Given the description of an element on the screen output the (x, y) to click on. 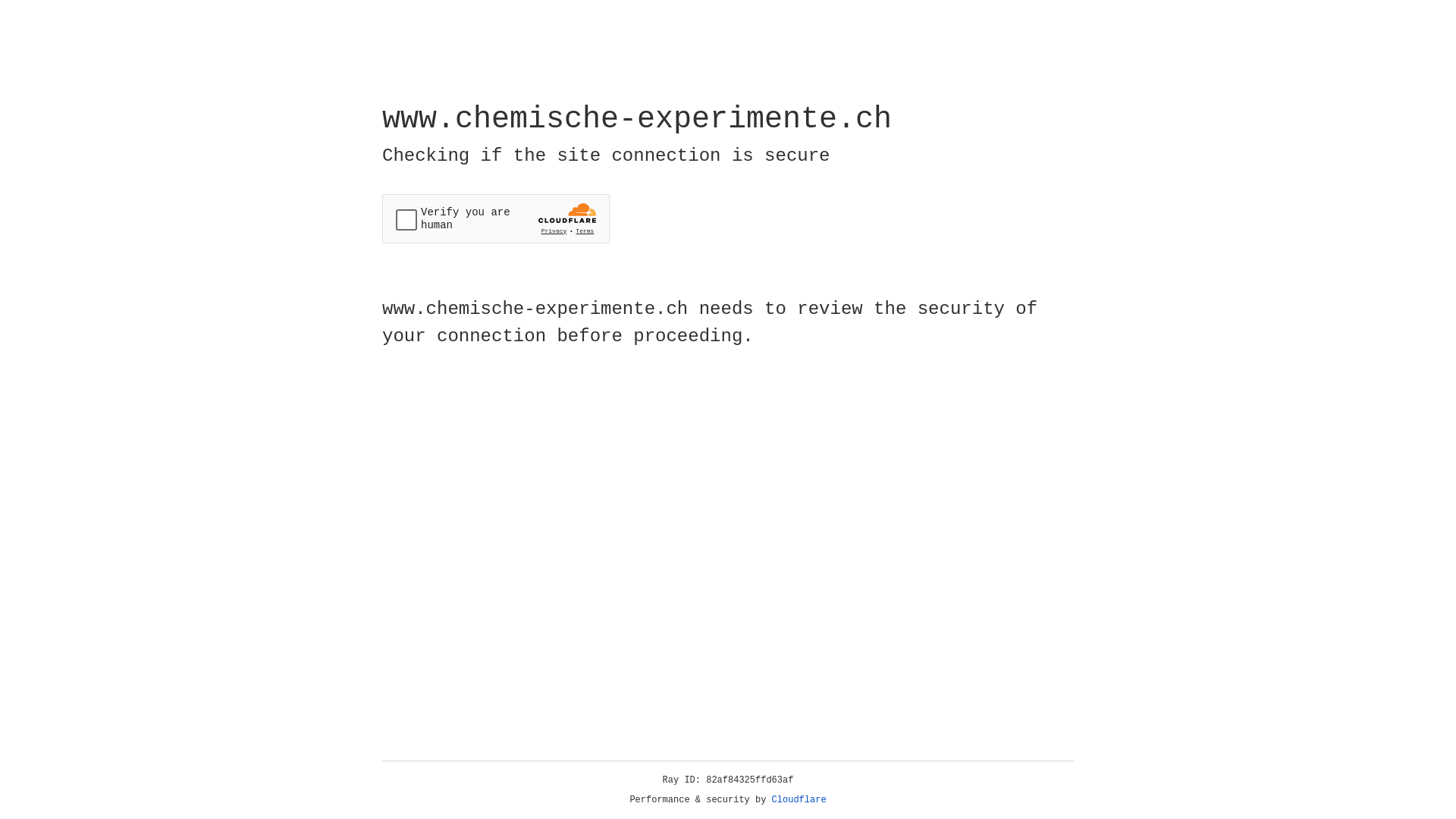
Widget containing a Cloudflare security challenge Element type: hover (495, 218)
Cloudflare Element type: text (798, 799)
